Given the description of an element on the screen output the (x, y) to click on. 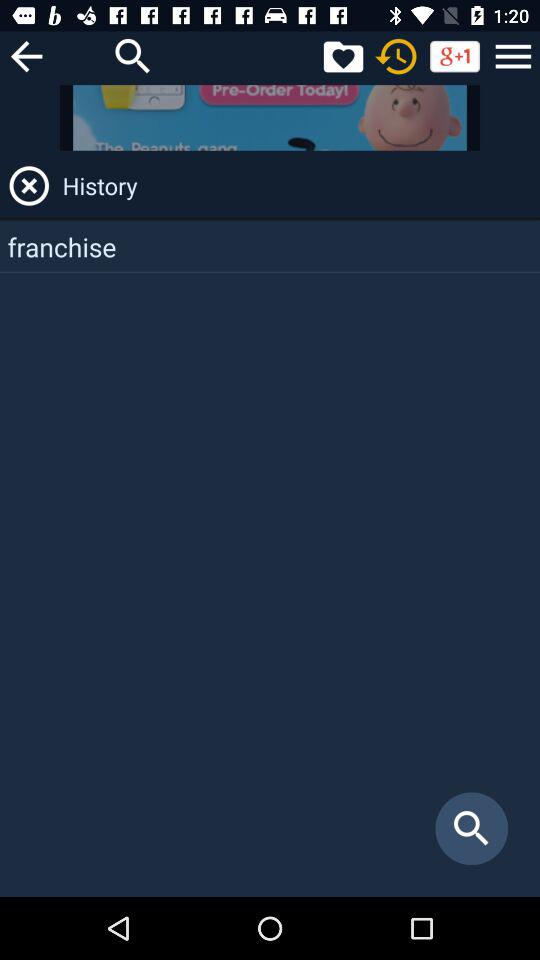
search option (133, 56)
